Given the description of an element on the screen output the (x, y) to click on. 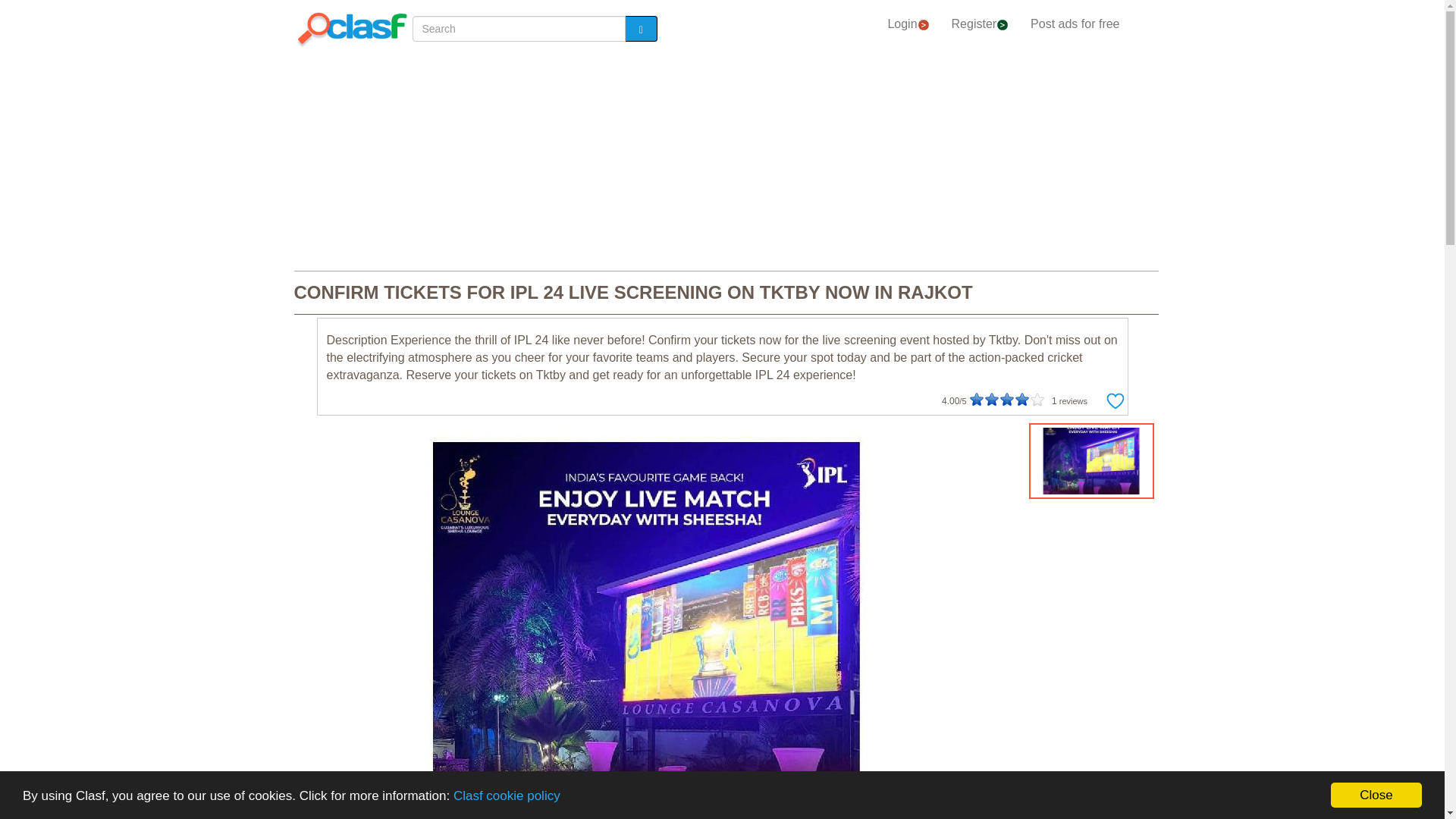
Add to your favorite ads (1114, 401)
